Given the description of an element on the screen output the (x, y) to click on. 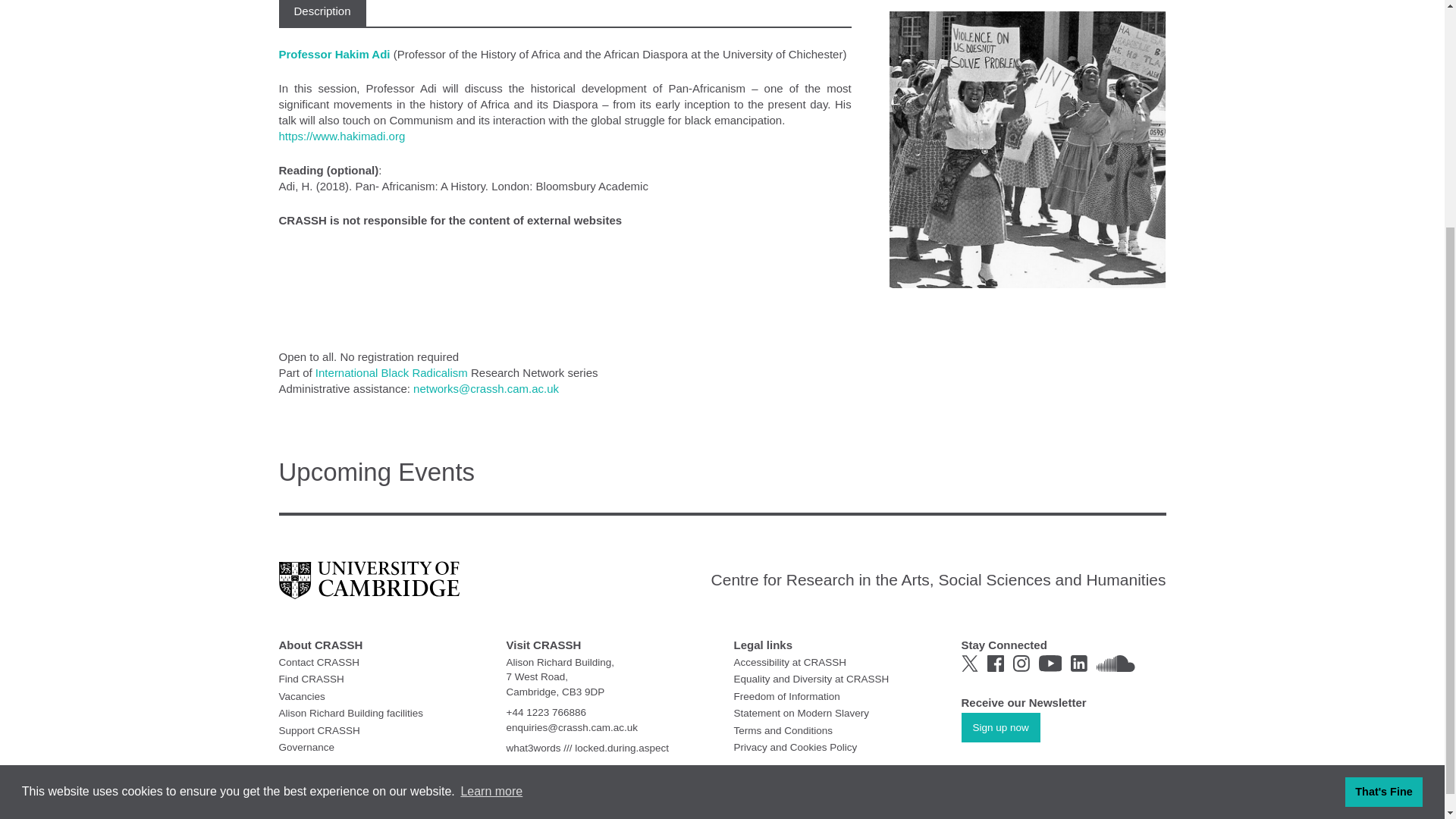
Terms and Conditions (782, 730)
Statement on Modern Slavery (801, 713)
Contact CRASSH (319, 662)
That's Fine (1383, 477)
Support CRASSH (319, 730)
Find CRASSH (311, 678)
International Black Radicalism (391, 371)
Governance (306, 747)
Professor Hakim Adi (336, 52)
Vacancies (301, 695)
